Given the description of an element on the screen output the (x, y) to click on. 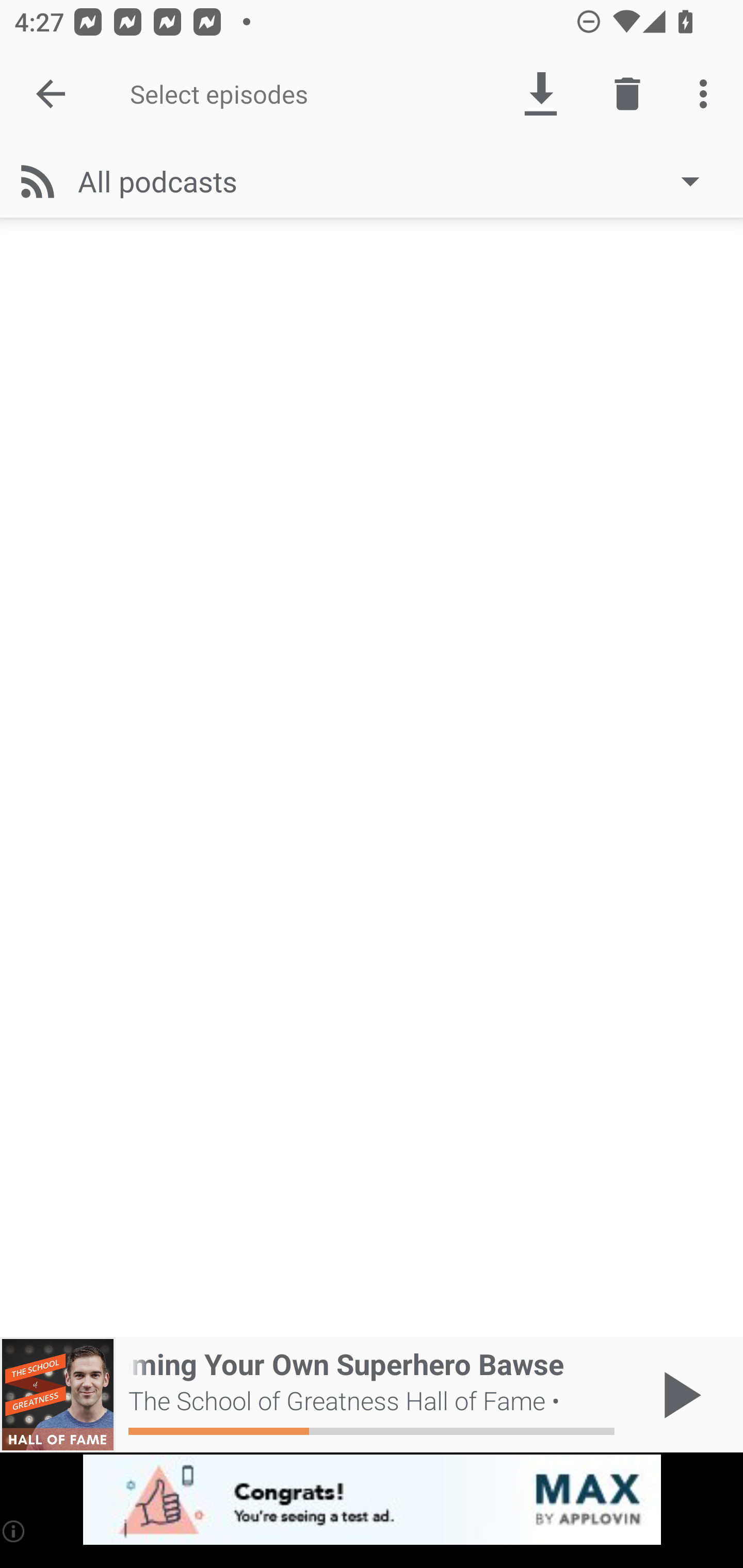
Done (50, 93)
Download (540, 93)
Delete episode (626, 93)
More options (706, 93)
All podcasts (398, 180)
Play / Pause (677, 1394)
app-monetization (371, 1500)
(i) (14, 1531)
